Given the description of an element on the screen output the (x, y) to click on. 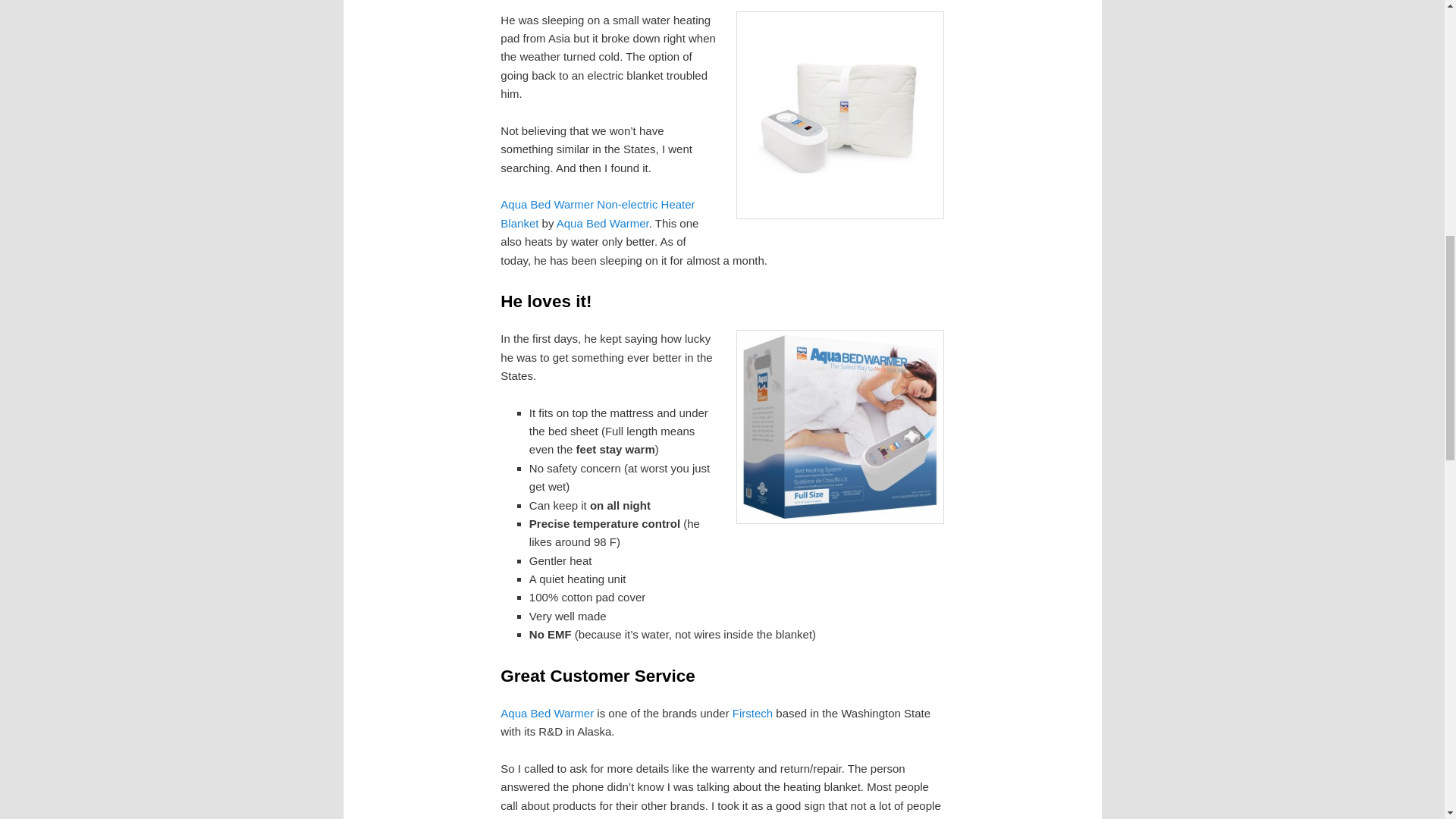
Aqua Bed Warmer (602, 223)
Aqua Bed Warmer (547, 712)
Aqua Bed Warmer Non-electric Heater Blanket (597, 213)
read the Aqua Bed Warmer reviews on Amazon (597, 213)
Firstech (752, 712)
